Given the description of an element on the screen output the (x, y) to click on. 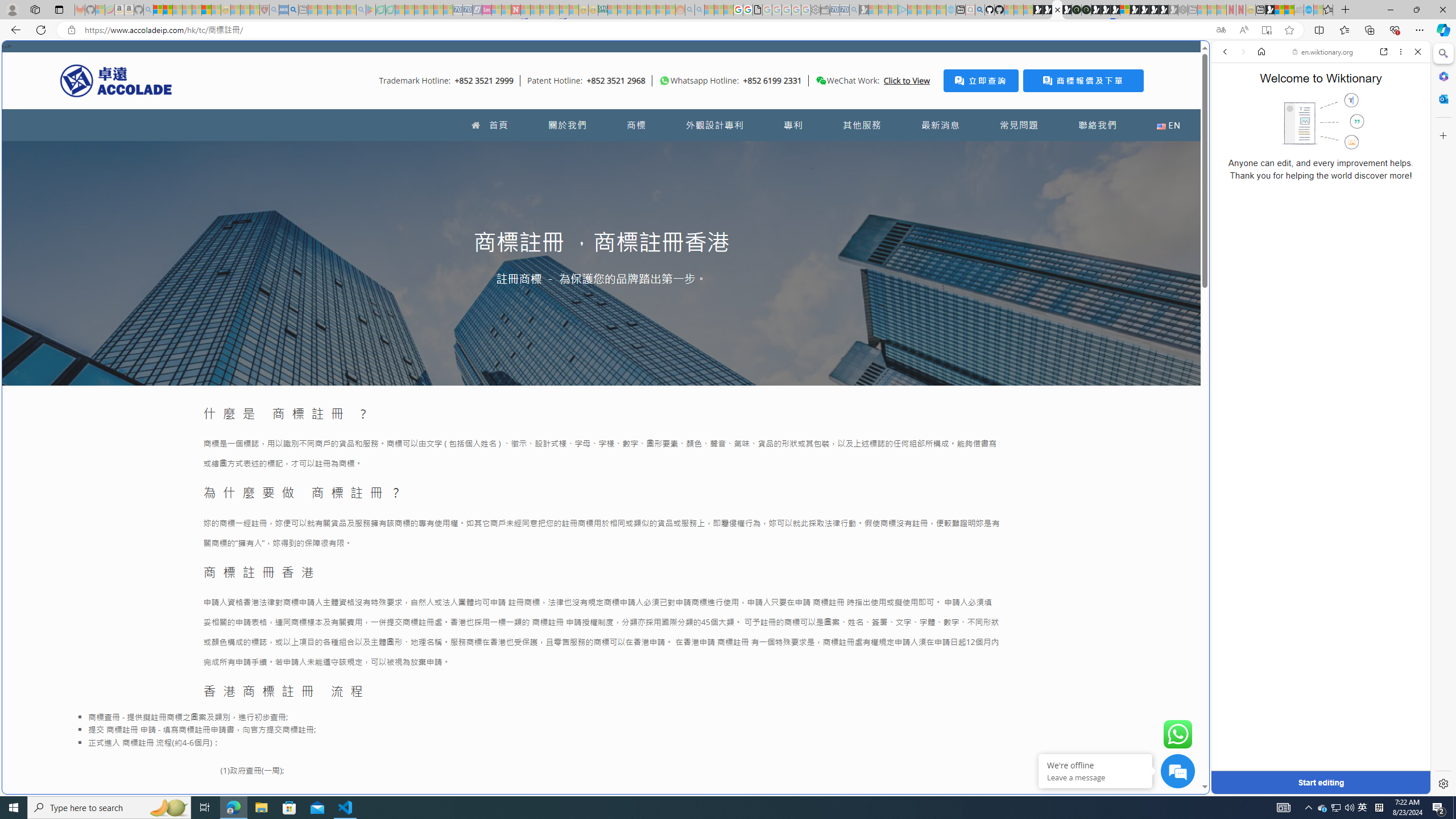
14 Common Myths Debunked By Scientific Facts - Sleeping (534, 9)
MSNBC - MSN - Sleeping (611, 9)
Home | Sky Blue Bikes - Sky Blue Bikes (1118, 242)
Settings - Sleeping (815, 9)
SEARCH TOOLS (1350, 130)
en.wiktionary.org (1323, 51)
